Given the description of an element on the screen output the (x, y) to click on. 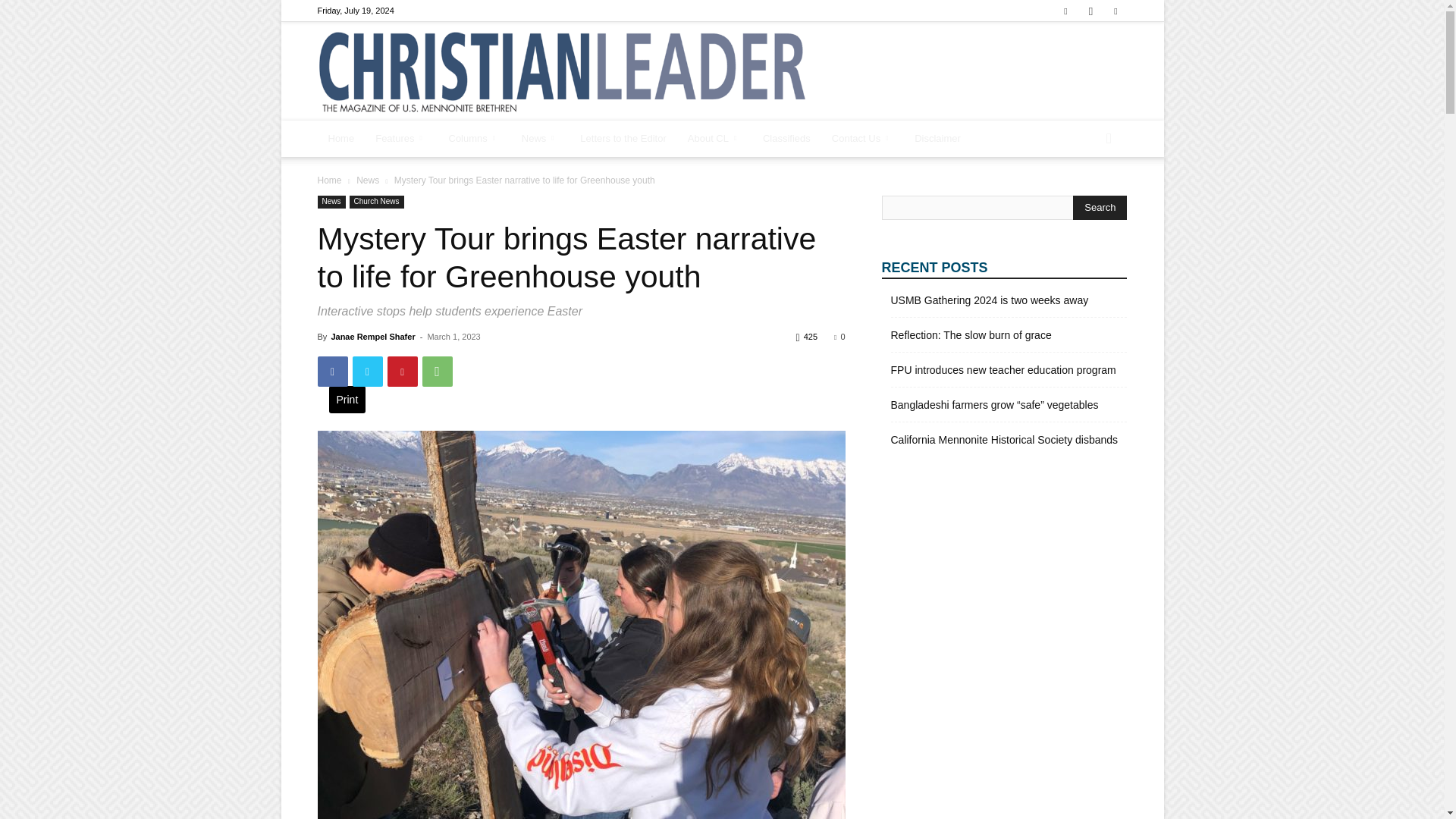
Facebook (1065, 10)
Twitter (1114, 10)
Instagram (1090, 10)
Search (1099, 207)
